Given the description of an element on the screen output the (x, y) to click on. 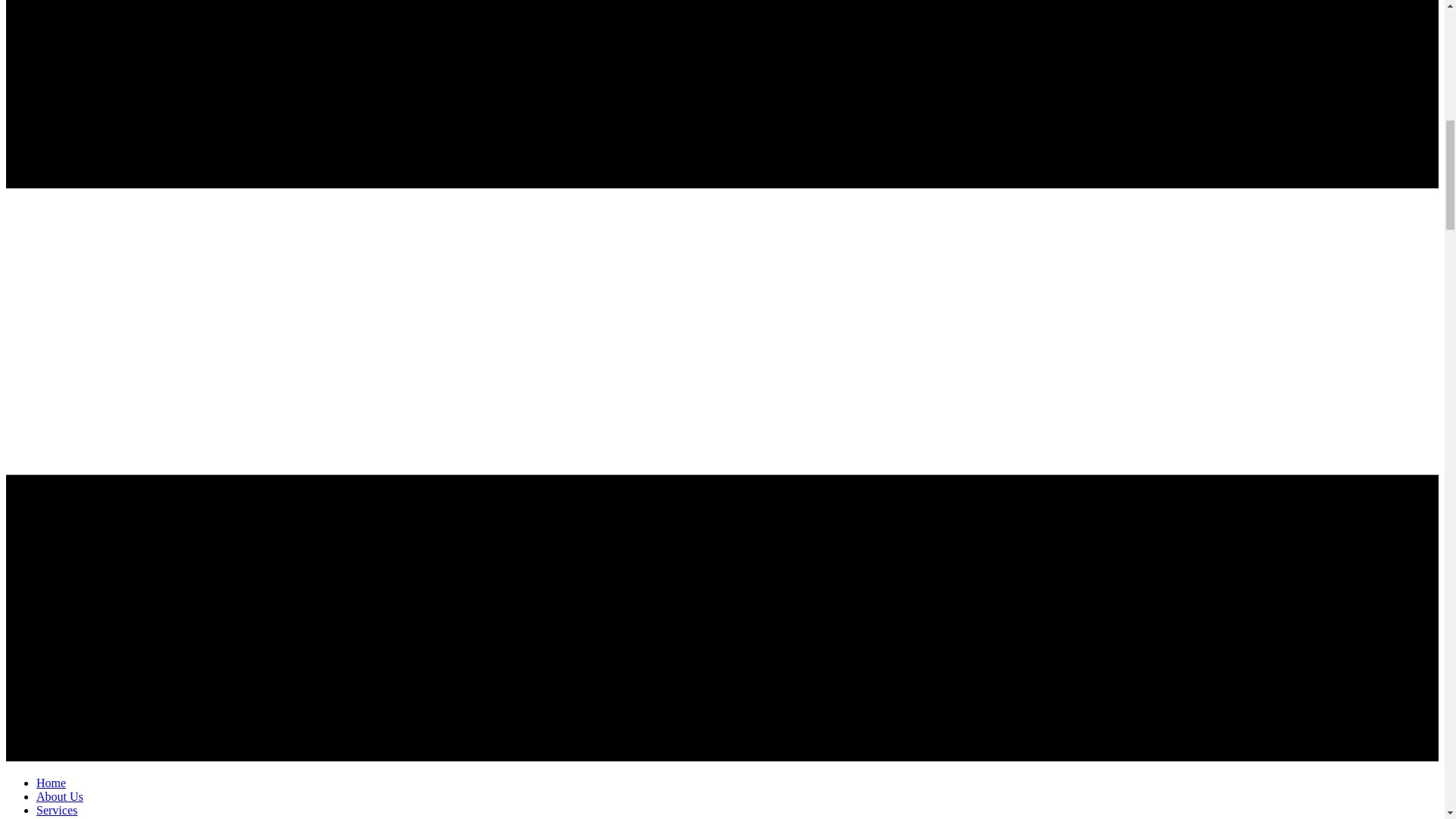
Home (50, 782)
About Us (59, 796)
Services (56, 809)
